Given the description of an element on the screen output the (x, y) to click on. 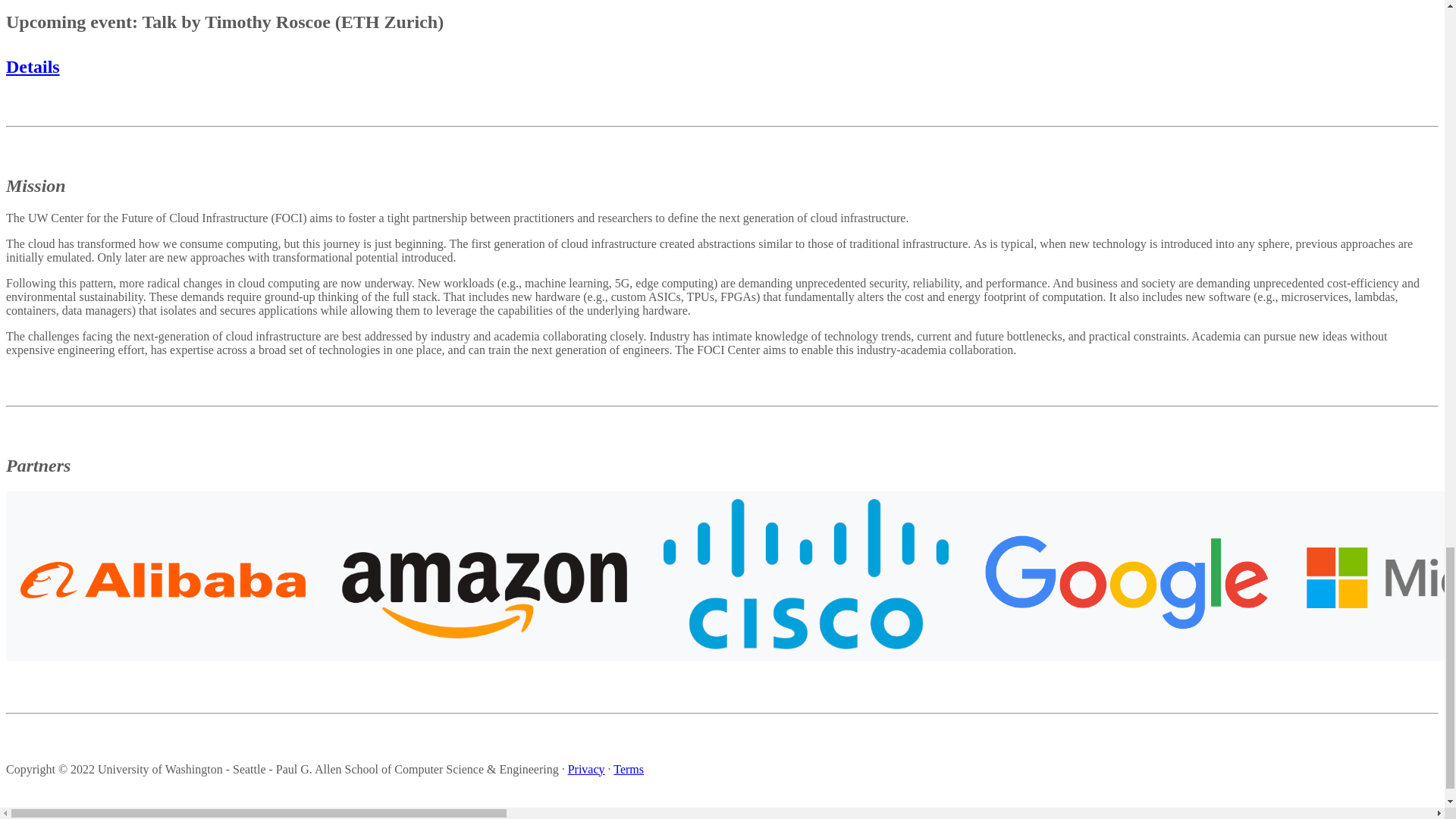
Details (32, 66)
Terms (627, 768)
Privacy (586, 768)
